Given the description of an element on the screen output the (x, y) to click on. 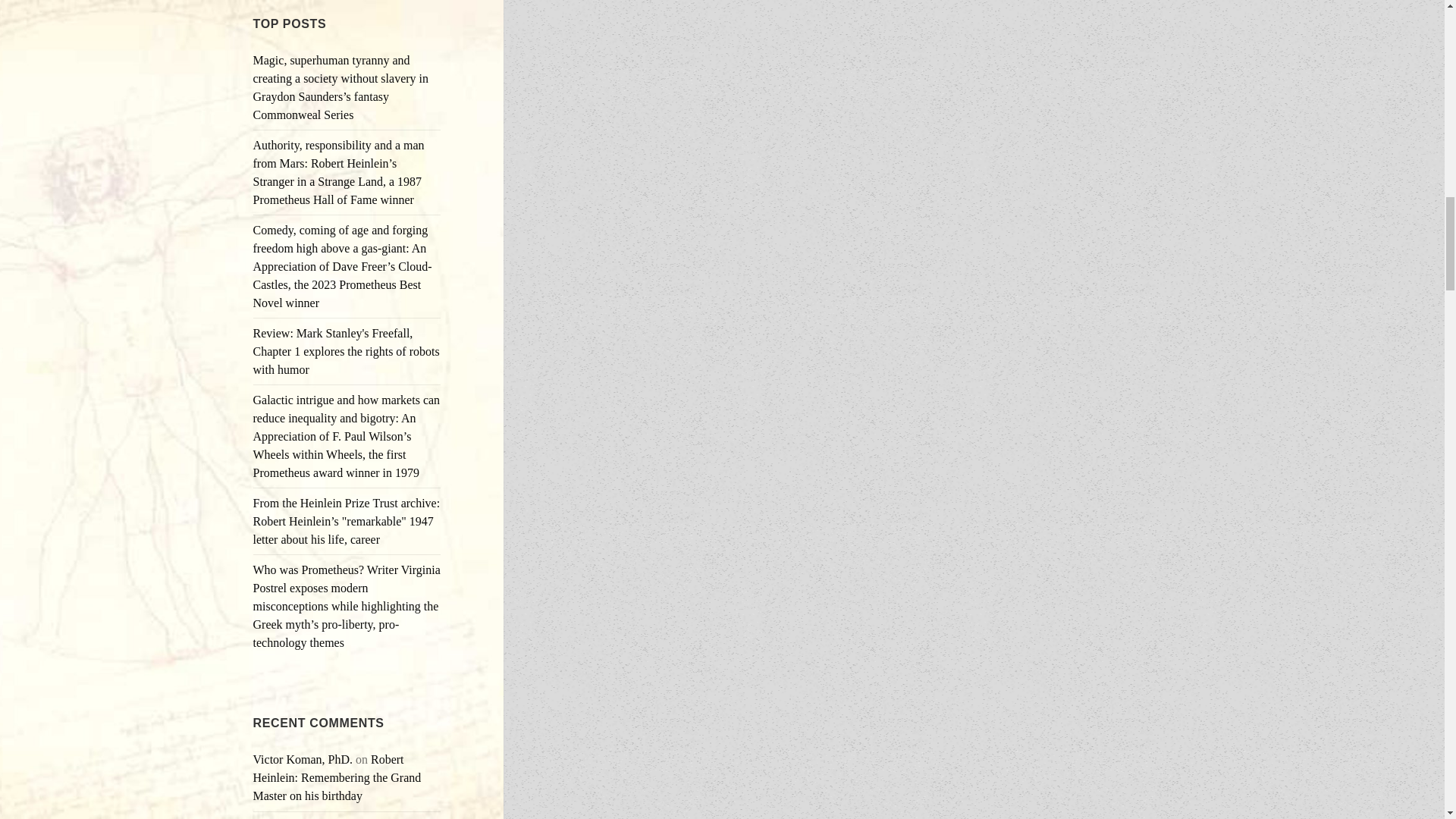
Victor Koman, PhD. (302, 758)
